Given the description of an element on the screen output the (x, y) to click on. 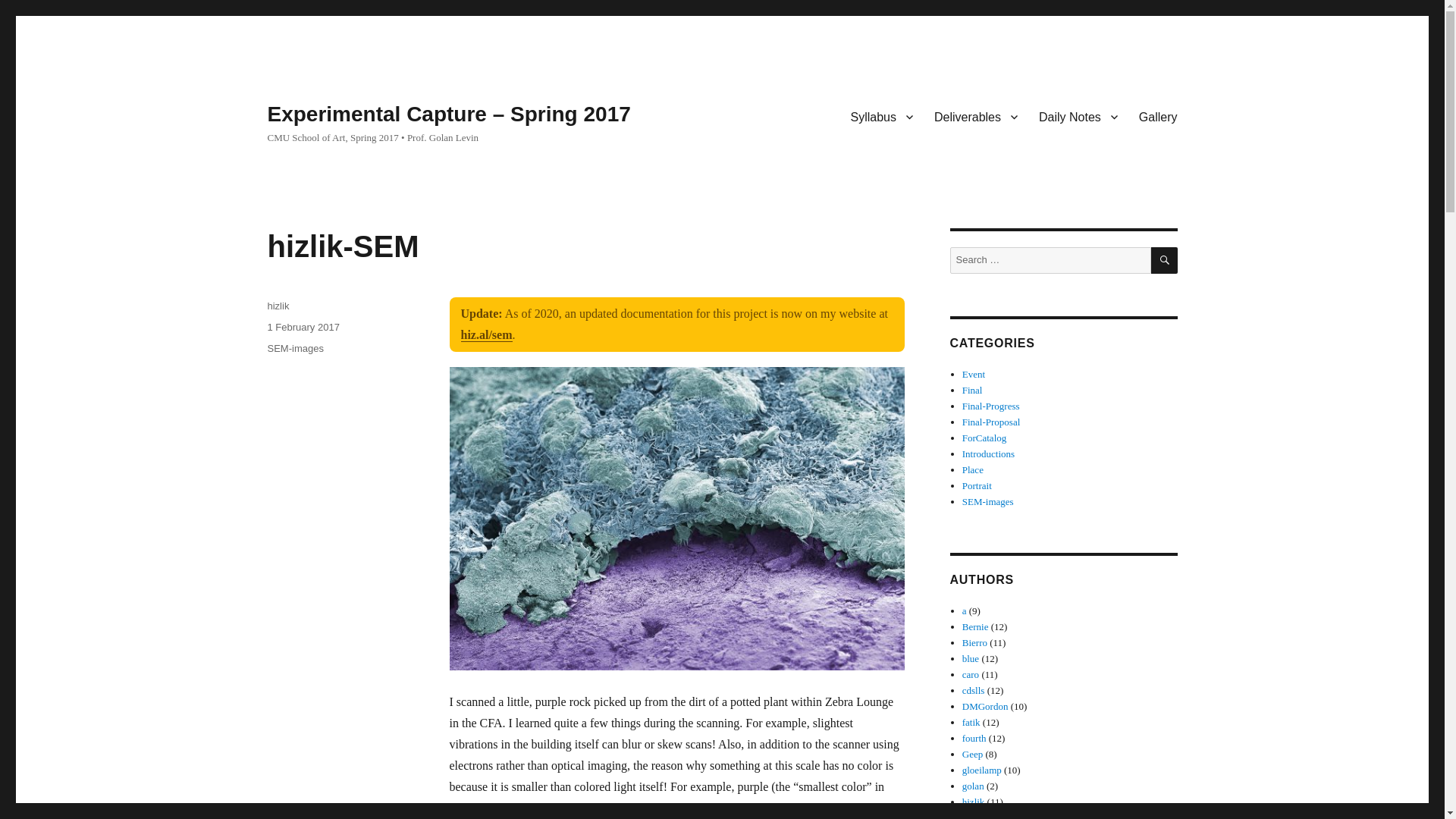
hizlik (277, 306)
1 February 2017 (302, 326)
Posts by fourth (974, 737)
Posts by golan (973, 785)
Posts by gloeilamp (981, 769)
Posts by blue (970, 658)
Posts by Bernie (975, 626)
Posts by hizlik (973, 801)
SEARCH (1164, 260)
Gallery (1158, 116)
